Given the description of an element on the screen output the (x, y) to click on. 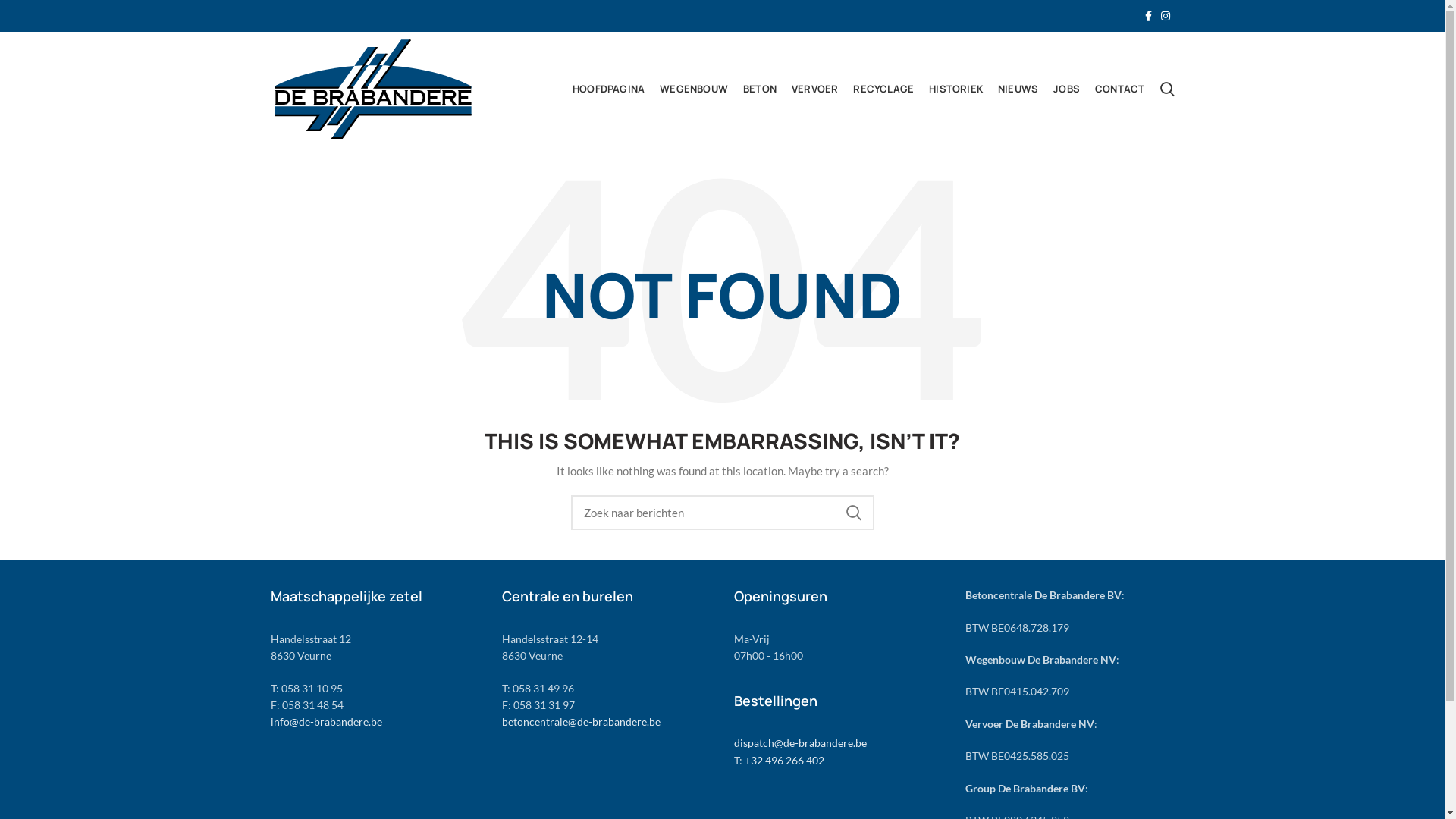
betoncentrale@de-brabandere.be Element type: text (581, 721)
BETON Element type: text (759, 88)
HOOFDPAGINA Element type: text (608, 88)
info@de-brabandere.be Element type: text (325, 721)
dispatch@de-brabandere.be Element type: text (800, 742)
Instagram Element type: text (1164, 15)
NIEUWS Element type: text (1017, 88)
SEARCH Element type: text (853, 512)
+32 496 266 402 Element type: text (784, 759)
Facebook Element type: text (1148, 15)
CONTACT Element type: text (1119, 88)
Search Element type: hover (1167, 88)
VERVOER Element type: text (814, 88)
WEGENBOUW Element type: text (693, 88)
JOBS Element type: text (1066, 88)
RECYCLAGE Element type: text (883, 88)
HISTORIEK Element type: text (955, 88)
